Given the description of an element on the screen output the (x, y) to click on. 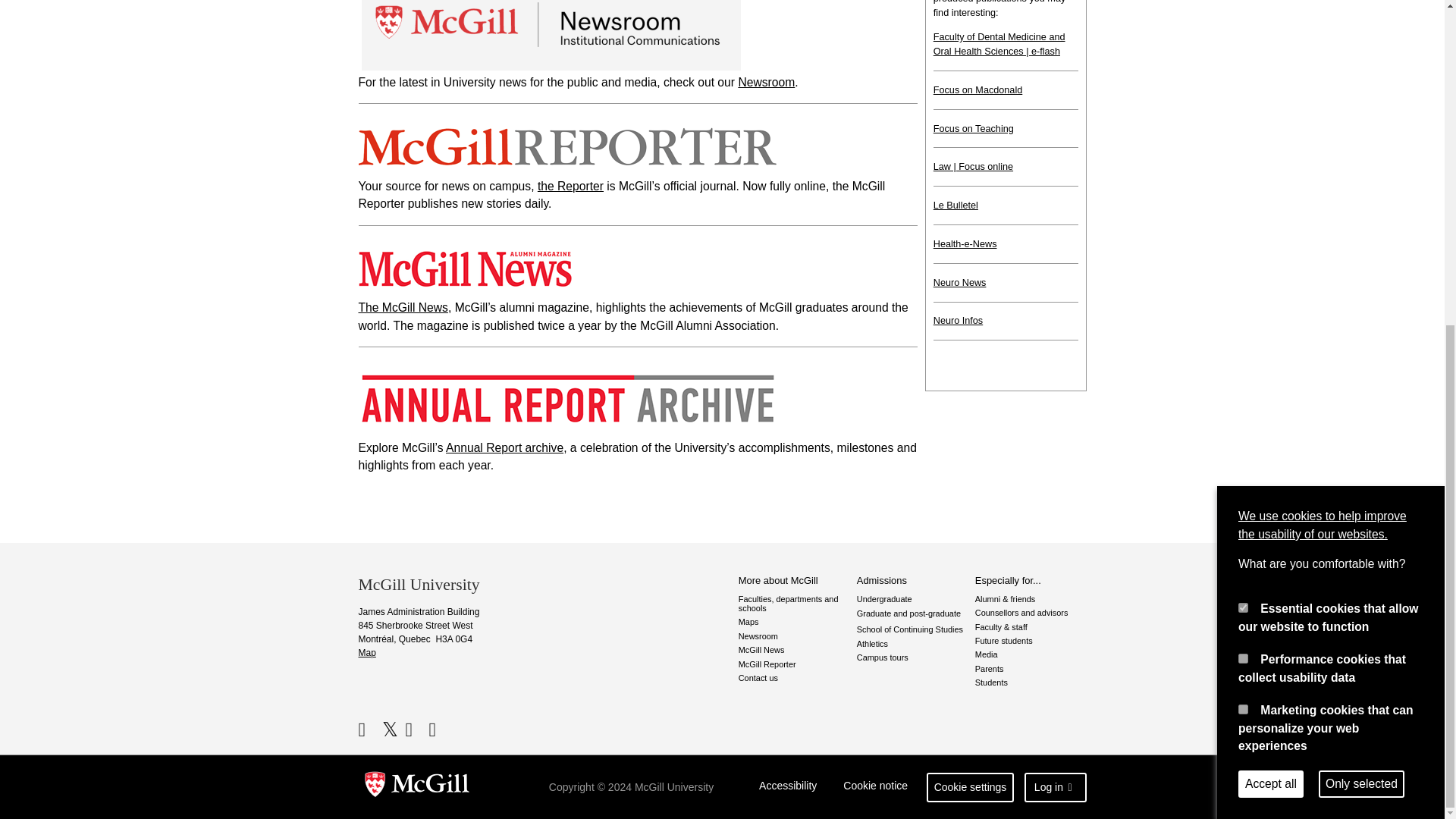
School of Continuing Studies (912, 628)
The McGill News (402, 307)
McGill News (794, 649)
Neuro Infos (957, 320)
Follow us on Follow McGill on Facebook (368, 729)
Follow us on Follow McGill on Twitter (392, 729)
Annual Report archive (504, 447)
Newsroom (794, 635)
return to McGill University (417, 786)
Map (366, 652)
McGill Reporter (794, 664)
the Reporter (570, 185)
Contact us (794, 677)
performance (1243, 124)
Focus on Teaching (973, 128)
